Given the description of an element on the screen output the (x, y) to click on. 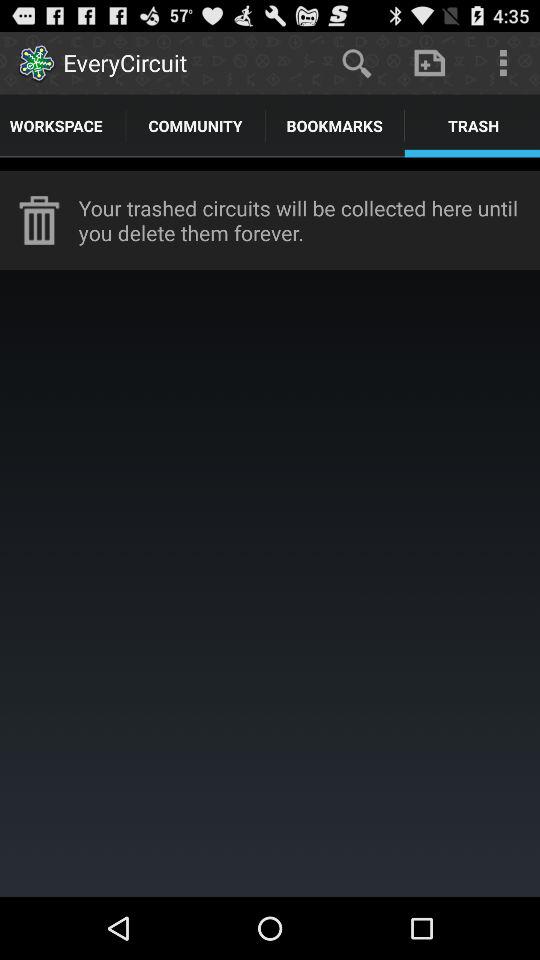
tap the app above bookmarks (356, 62)
